Given the description of an element on the screen output the (x, y) to click on. 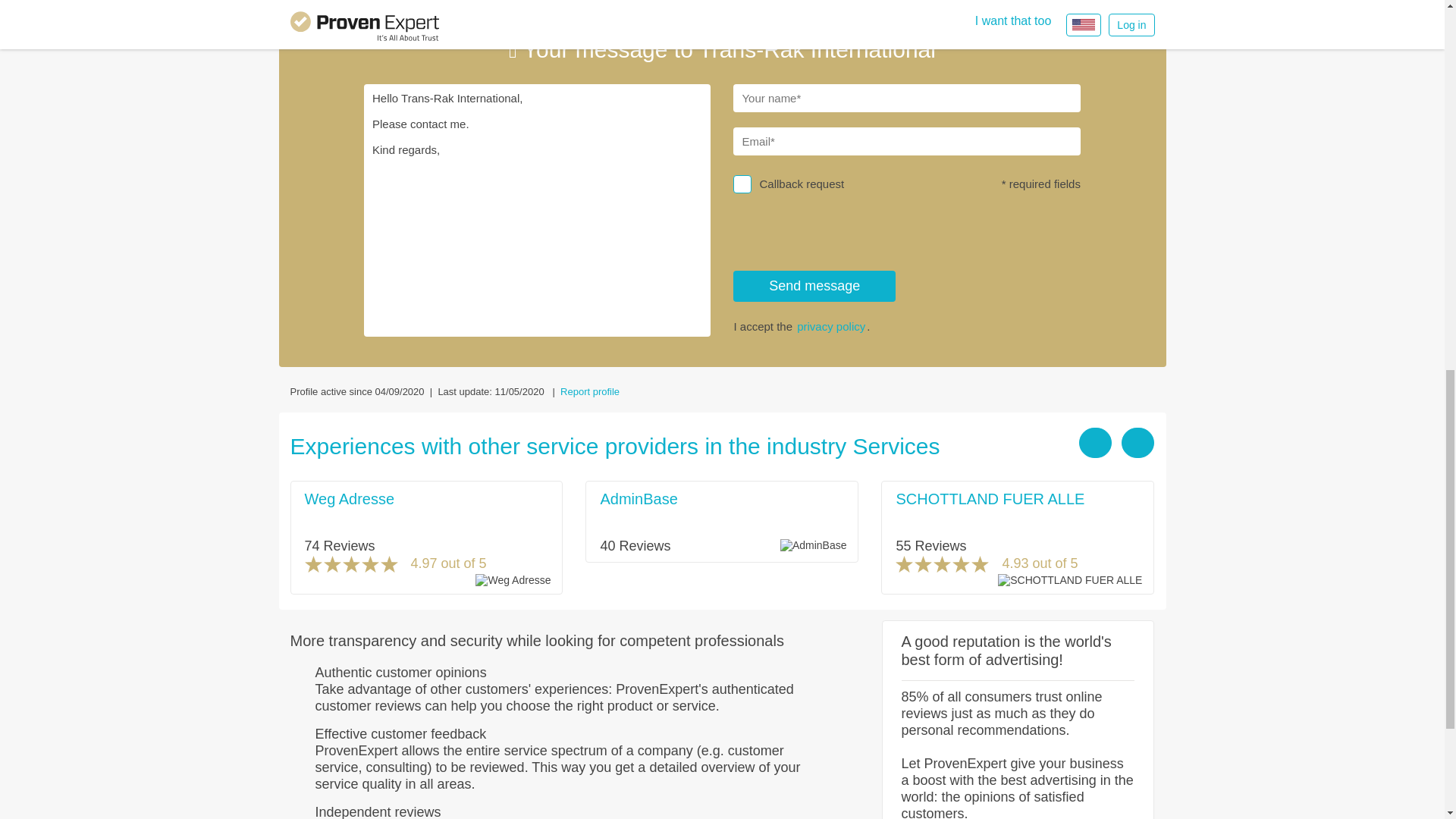
Report profile (590, 391)
Weg Adresse (349, 498)
privacy policy (830, 326)
Send message (814, 286)
